Given the description of an element on the screen output the (x, y) to click on. 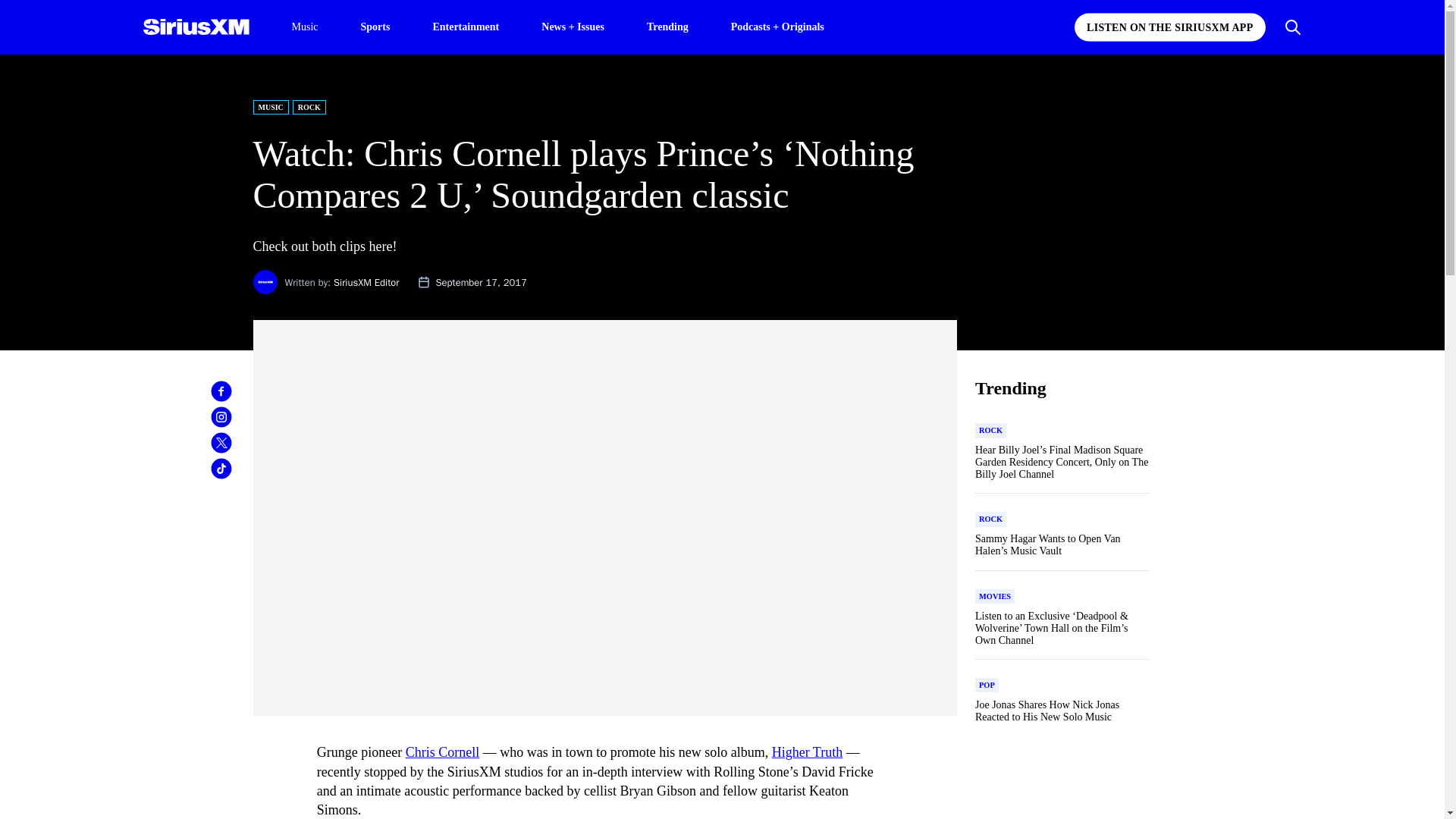
MUSIC (270, 106)
ROCK (309, 106)
Sports (375, 26)
Music (304, 26)
Trending (667, 26)
Higher Truth (807, 752)
Chris Cornell (443, 752)
SiriusXM Editor (365, 282)
Entertainment (465, 26)
ROCK (990, 430)
LISTEN ON THE SIRIUSXM APP (1169, 27)
